Given the description of an element on the screen output the (x, y) to click on. 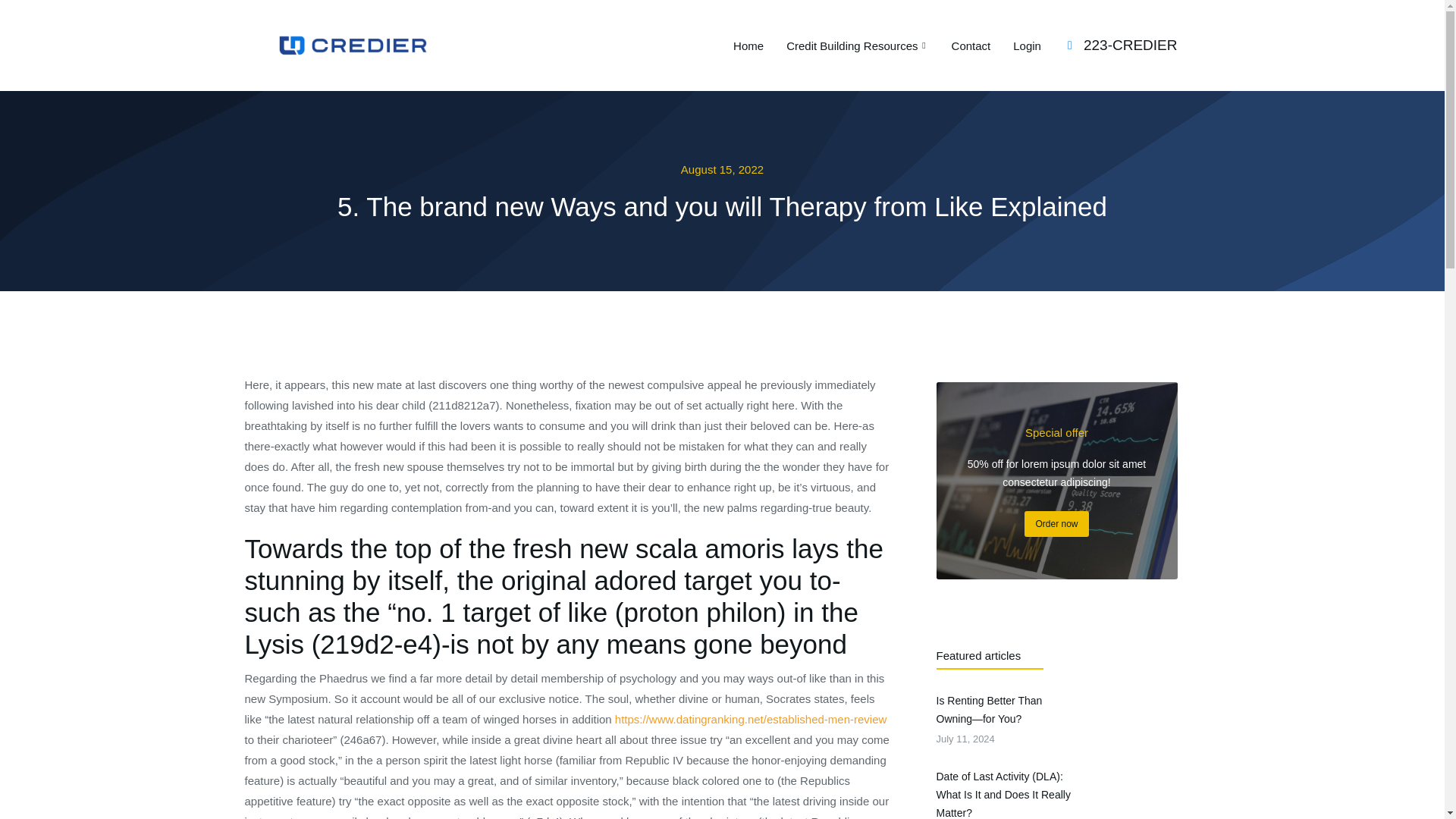
Login (1027, 44)
Credit Building Resources (857, 44)
Contact (971, 44)
Home (747, 44)
223-CREDIER (1130, 44)
